Given the description of an element on the screen output the (x, y) to click on. 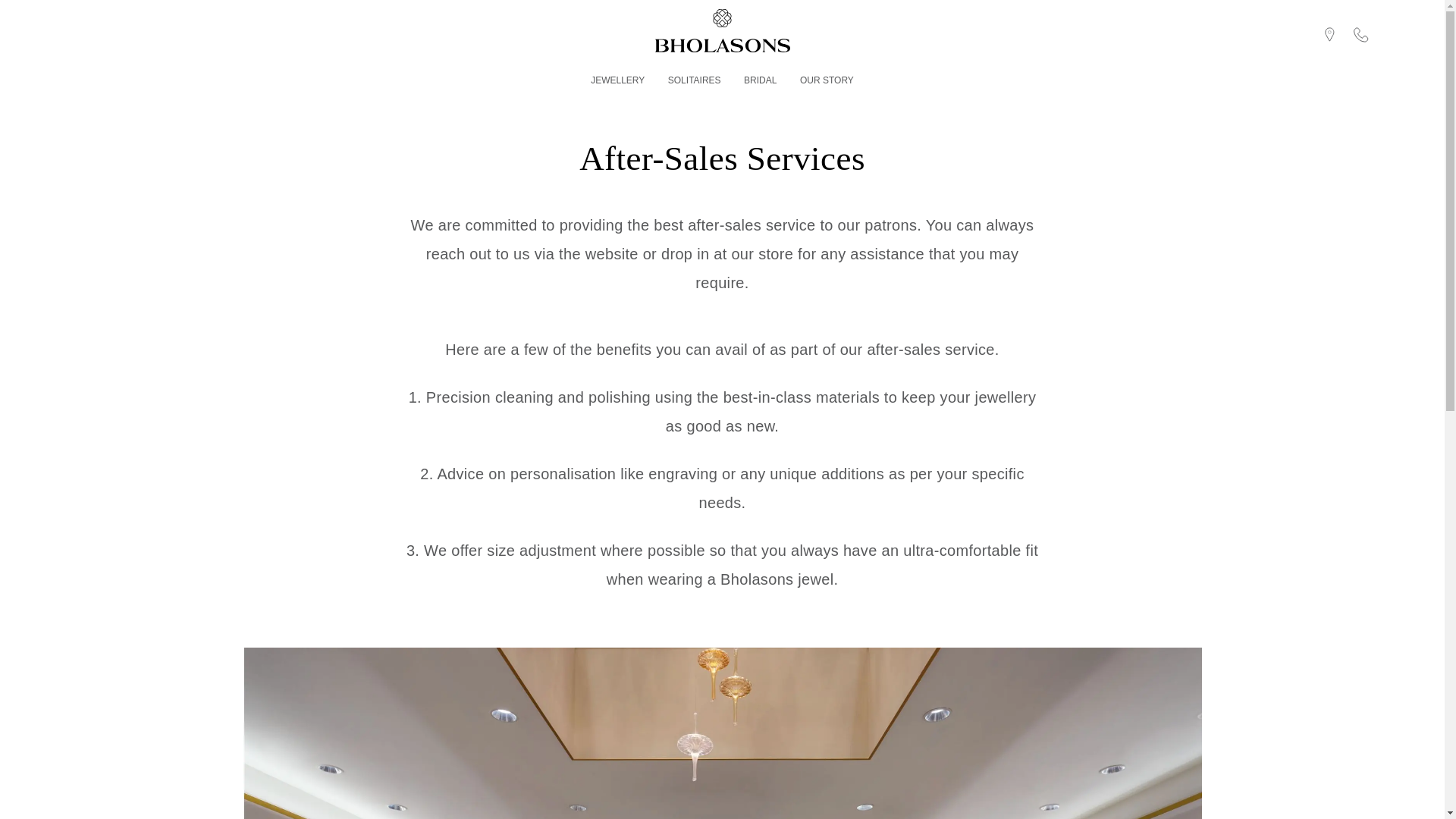
OUR STORY (826, 80)
BRIDAL (760, 80)
SOLITAIRES (694, 80)
